Given the description of an element on the screen output the (x, y) to click on. 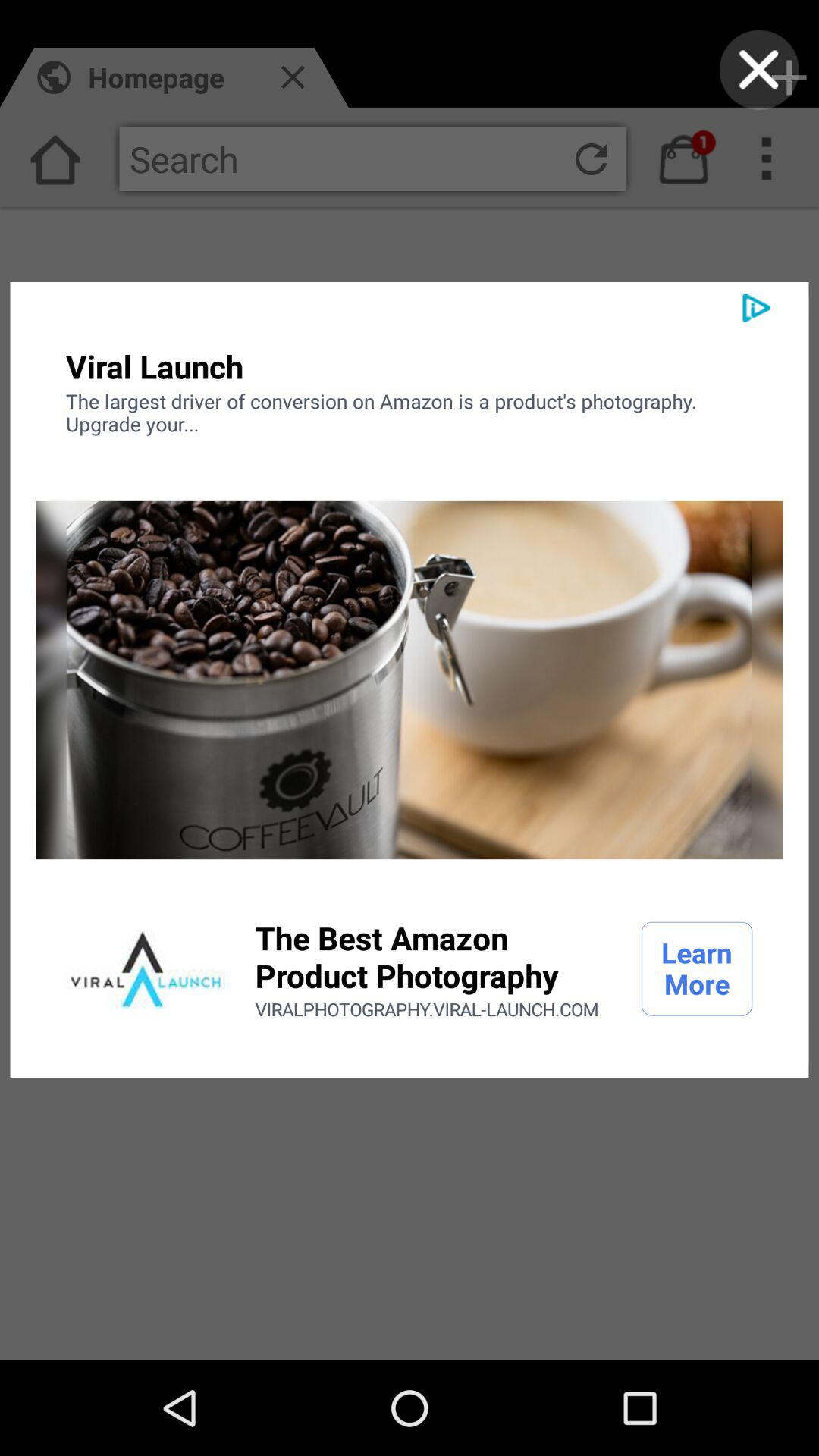
click the item to the left of the the best amazon item (145, 968)
